Given the description of an element on the screen output the (x, y) to click on. 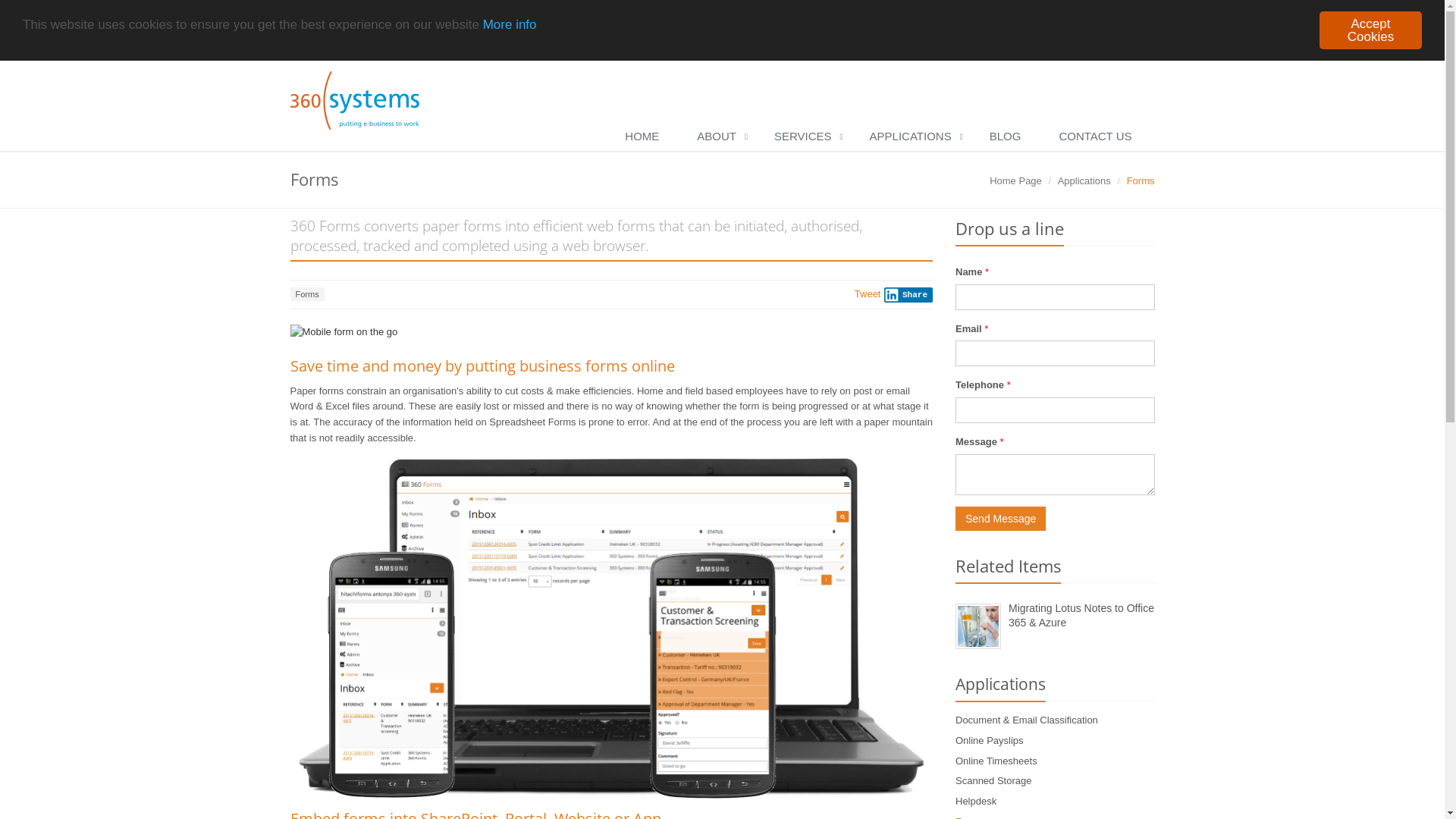
Tweet Element type: text (867, 293)
HOME Element type: text (645, 137)
Home Page Element type: text (1015, 180)
ABOUT Element type: text (720, 137)
Online Payslips Element type: text (989, 740)
Migrating Lotus Notes to Office 365 & Azure Element type: text (1081, 615)
Document & Email Classification Element type: text (1026, 719)
Accept Cookies Element type: text (1370, 30)
More info Element type: text (509, 23)
Share Element type: text (908, 294)
Scanned Storage Element type: text (993, 780)
Online Timesheets Element type: text (996, 760)
APPLICATIONS Element type: text (914, 137)
Helpdesk Element type: text (975, 800)
Send Message Element type: text (1000, 518)
Forms Element type: text (306, 294)
BLOG Element type: text (1009, 137)
Applications Element type: text (1083, 180)
CONTACT US Element type: text (1098, 137)
SERVICES Element type: text (806, 137)
